Given the description of an element on the screen output the (x, y) to click on. 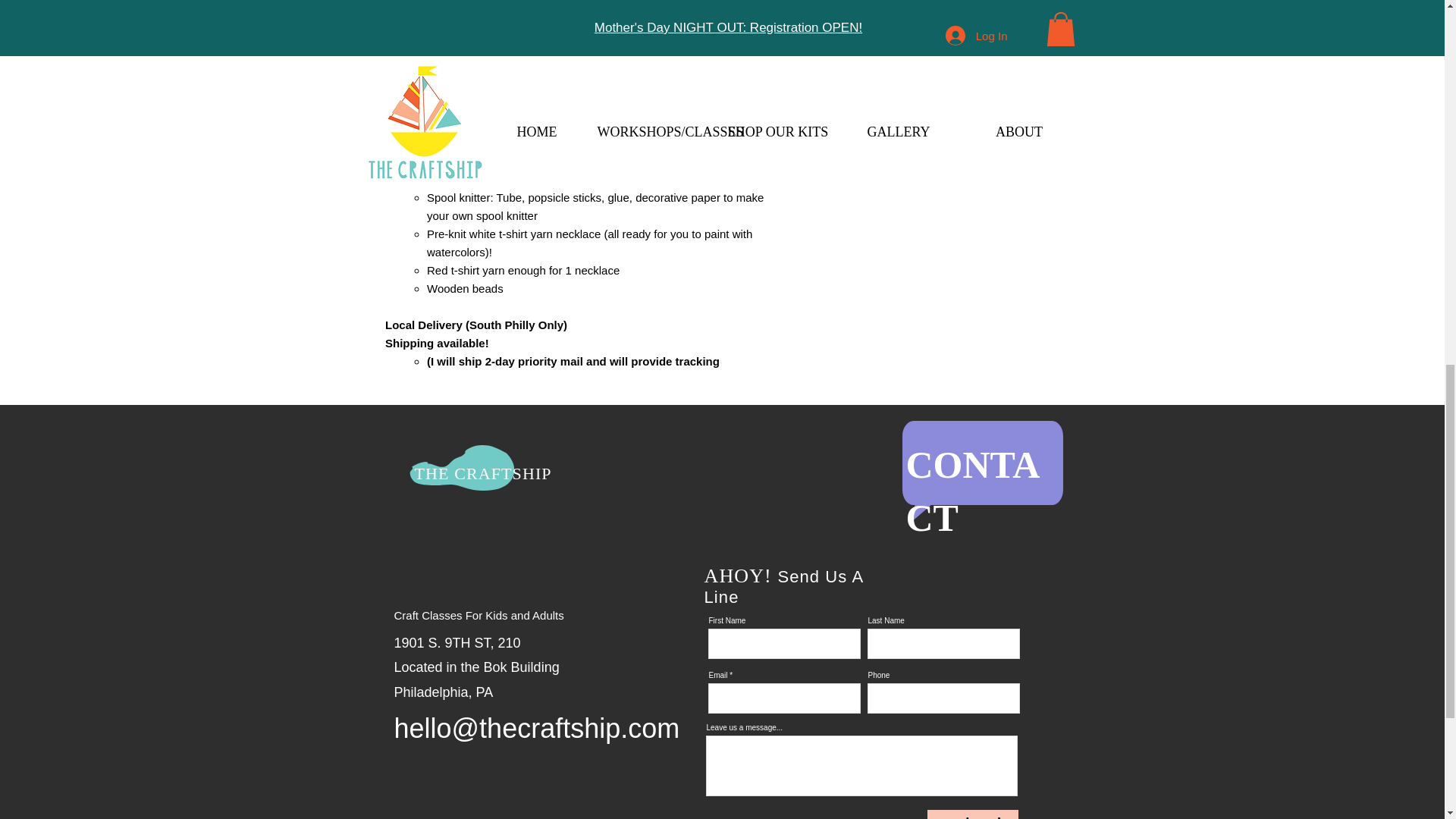
Submit (971, 814)
AHOY! Send Us A Line (783, 586)
THE CRAFTSHIP (482, 473)
